Given the description of an element on the screen output the (x, y) to click on. 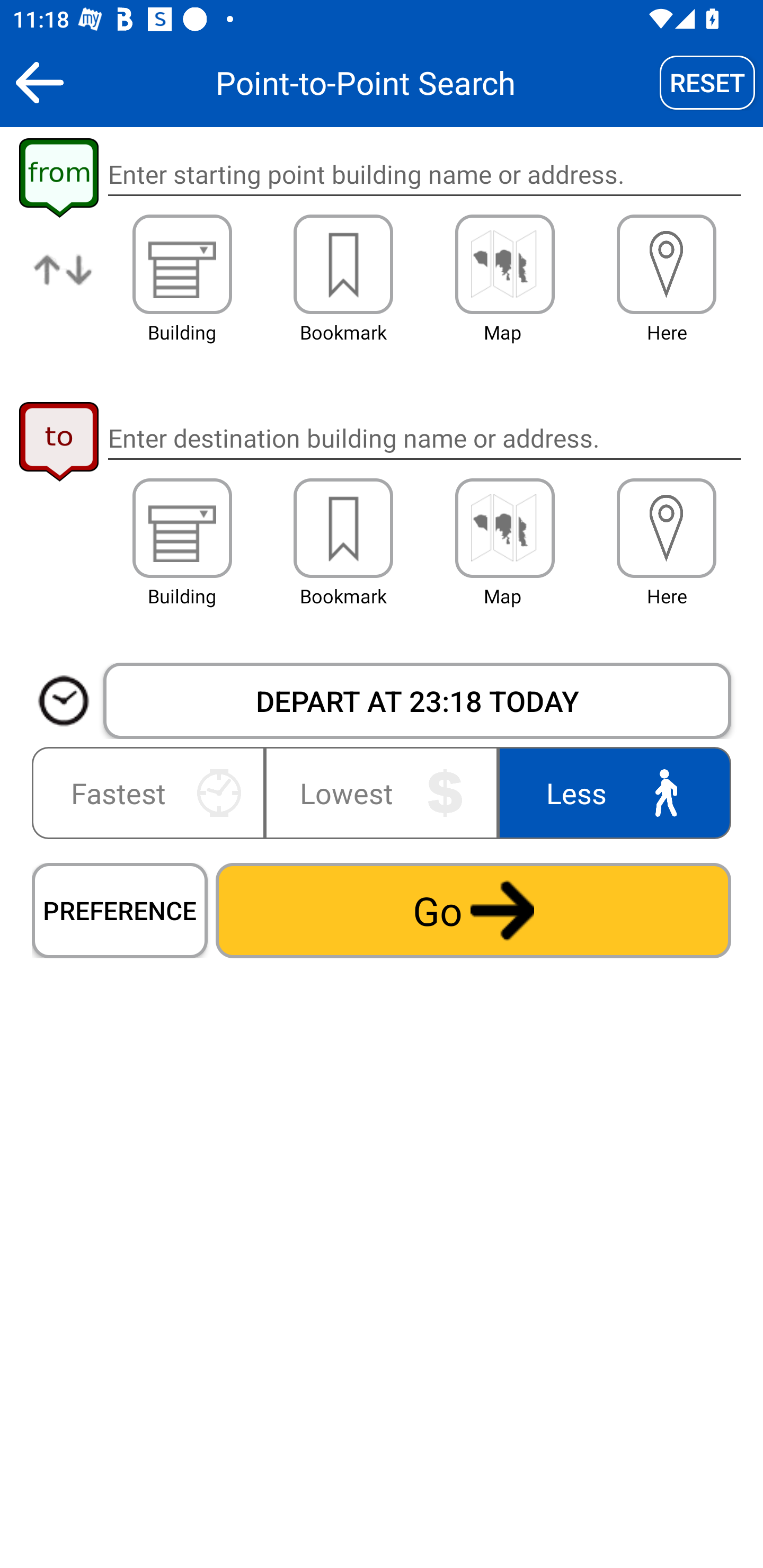
Back (39, 82)
RESET Reset (707, 81)
Enter starting point building name or address. (423, 174)
Building (181, 263)
Bookmarks (342, 263)
Select location on map (504, 263)
Here (666, 263)
Swap origin and destination (63, 284)
Enter destination building name or address. (423, 437)
Building (181, 528)
Bookmarks (342, 528)
Select location on map (504, 528)
Here (666, 528)
Lowest (381, 792)
Fastest (151, 792)
Less selected (610, 792)
PREFERENCE Preference (119, 910)
Go (472, 910)
